Given the description of an element on the screen output the (x, y) to click on. 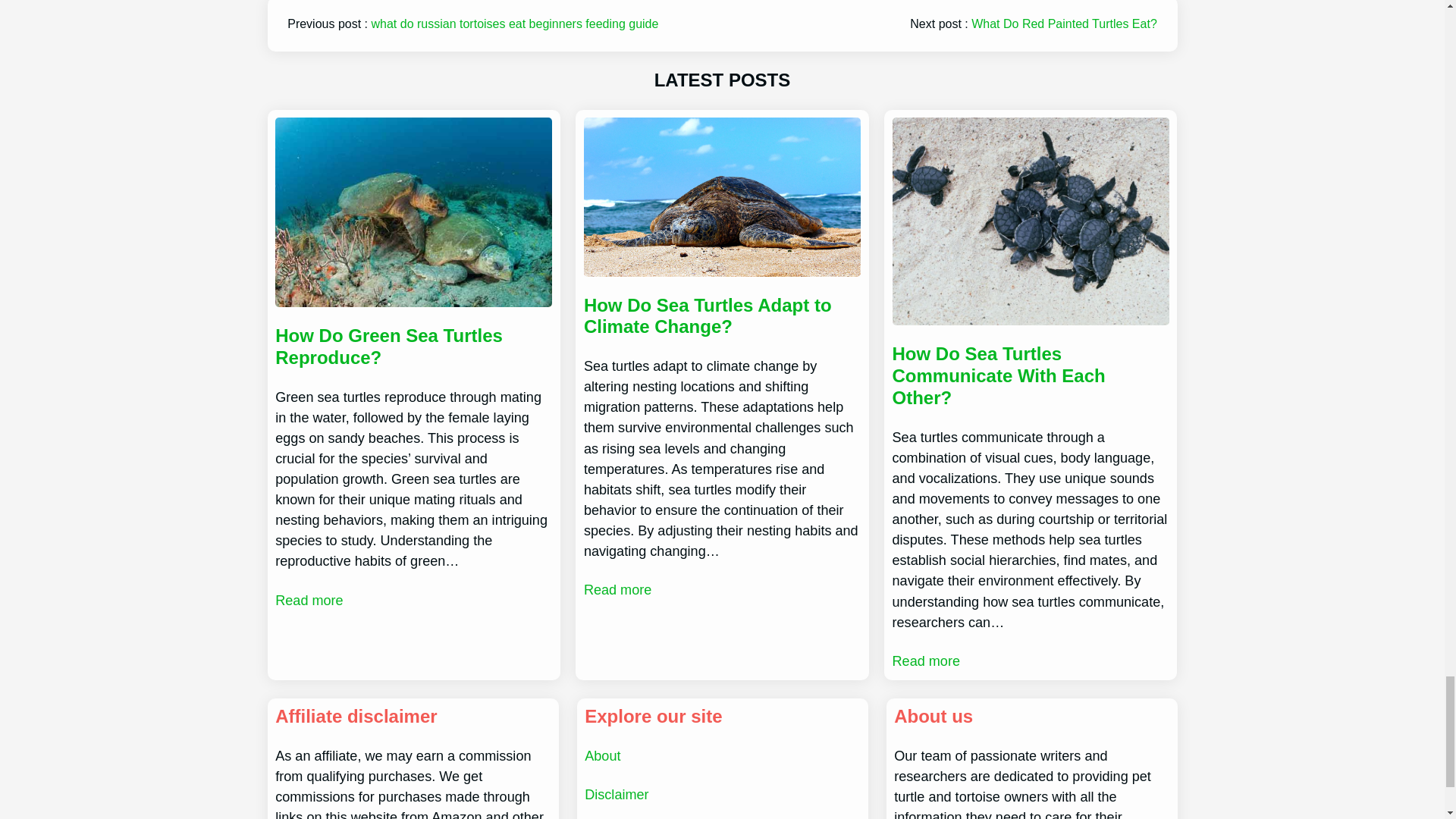
Read more (308, 599)
How Do Green Sea Turtles Reproduce? (413, 347)
How Do Sea Turtles Adapt to Climate Change? (721, 316)
what do russian tortoises eat beginners feeding guide (515, 23)
What Do Red Painted Turtles Eat? (1064, 23)
Read more (616, 589)
